Given the description of an element on the screen output the (x, y) to click on. 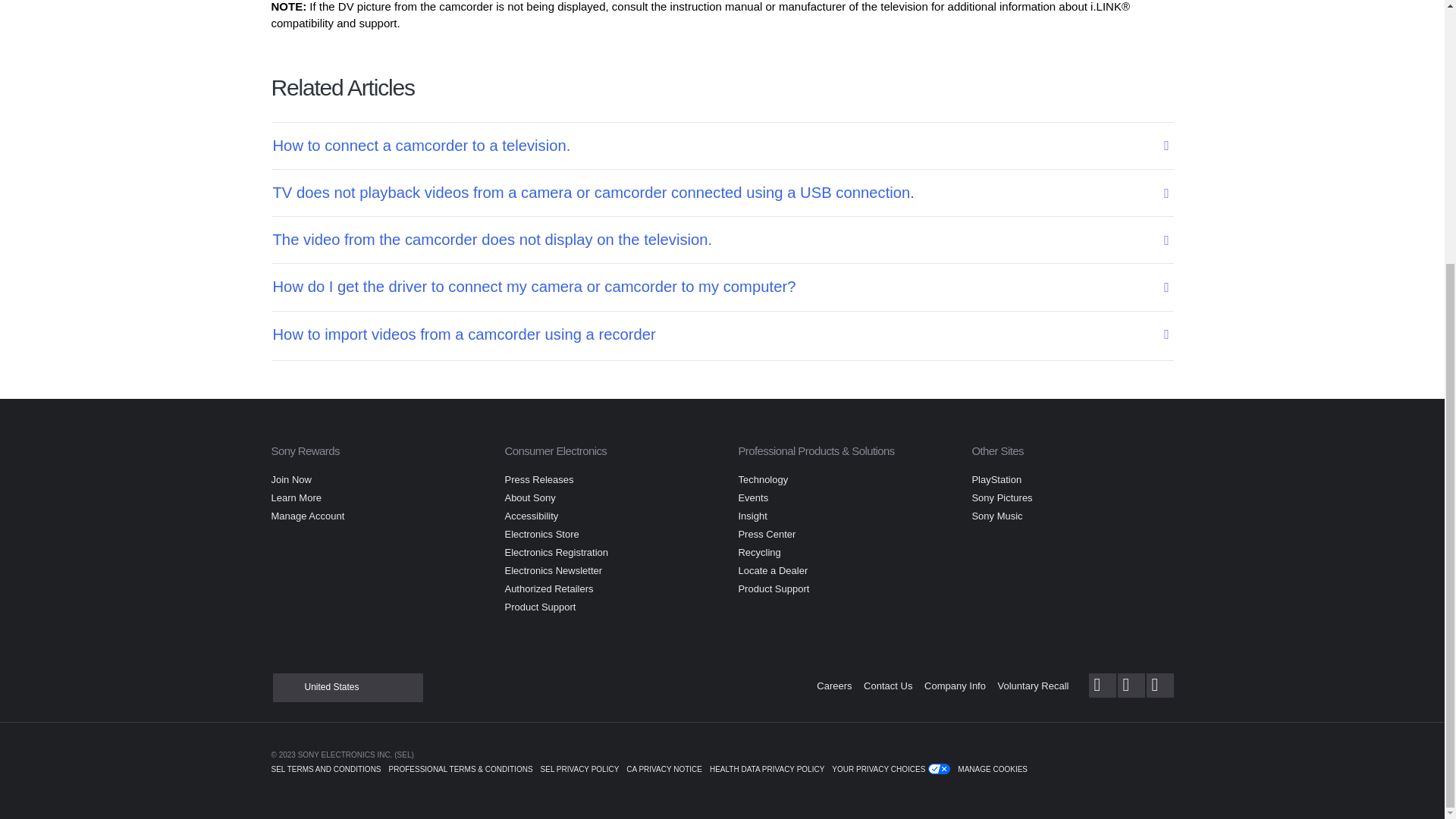
Press Releases (538, 479)
About Sony (528, 497)
How to connect a camcorder to a television. (712, 146)
Join Now (290, 479)
Accessibility (530, 515)
How to import videos from a camcorder using a recorder (712, 333)
Learn More (295, 497)
